Given the description of an element on the screen output the (x, y) to click on. 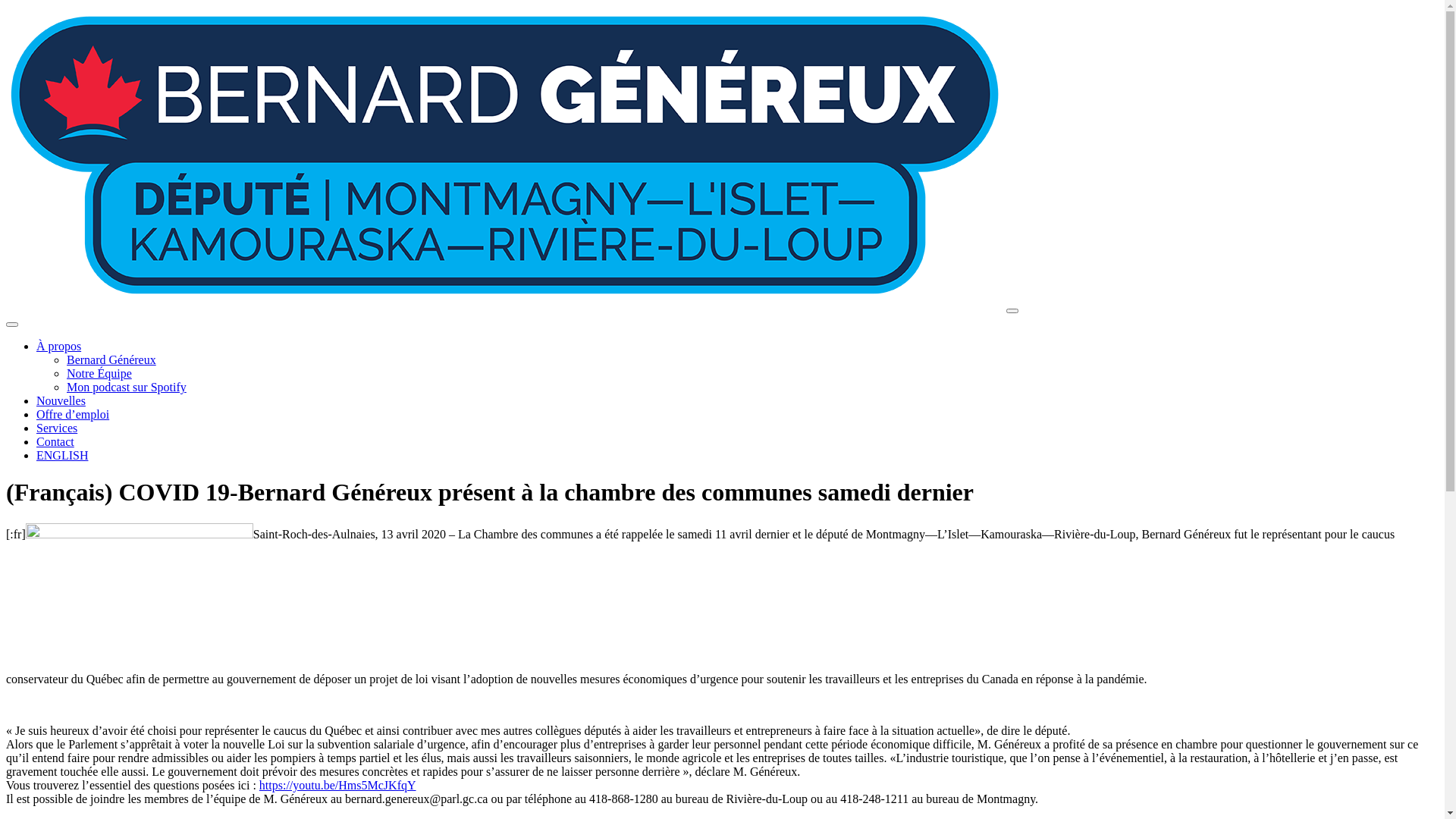
https://youtu.be/Hms5McJKfqY Element type: text (337, 784)
Services Element type: text (56, 427)
ENGLISH Element type: text (61, 454)
Mon podcast sur Spotify Element type: text (126, 386)
Nouvelles Element type: text (60, 400)
Contact Element type: text (55, 441)
